Given the description of an element on the screen output the (x, y) to click on. 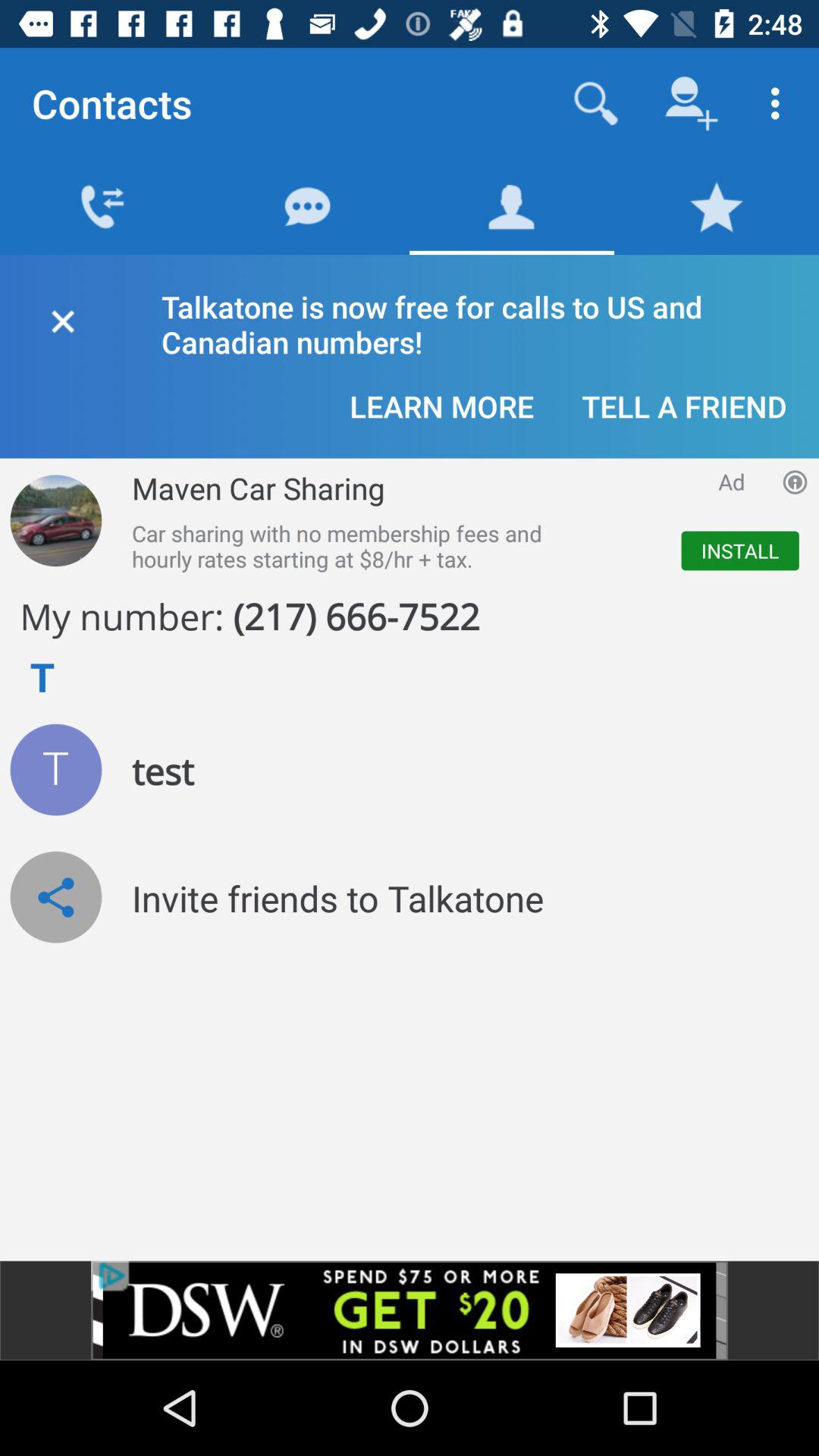
advertisement that will direct you to dsw (409, 1310)
